Given the description of an element on the screen output the (x, y) to click on. 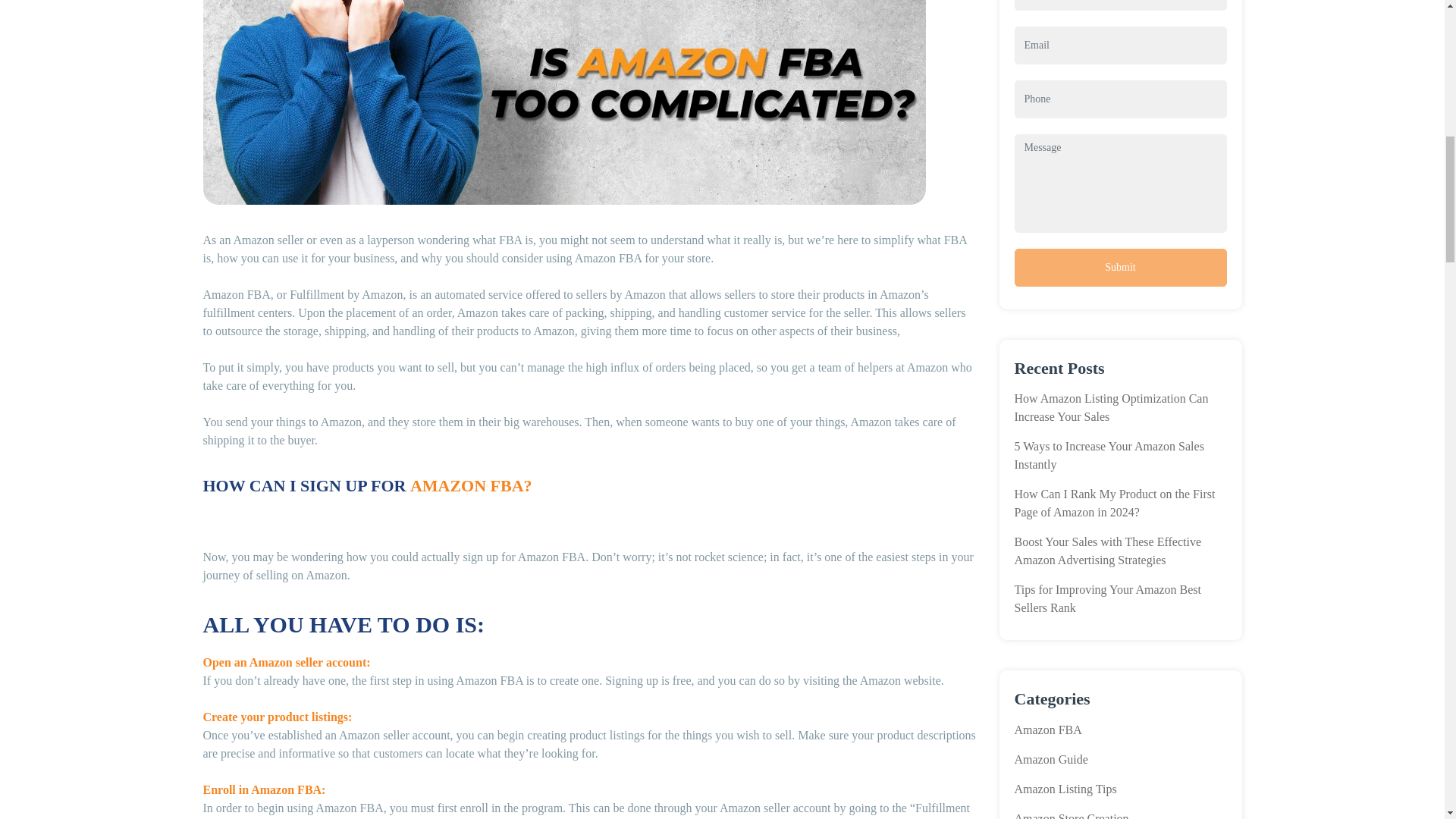
Amazon Store Creation (1071, 815)
5 Ways to Increase Your Amazon Sales Instantly (1109, 454)
Submit (1120, 267)
Amazon Listing Tips (1065, 788)
How Amazon Listing Optimization Can Increase Your Sales (1111, 407)
Submit (1120, 267)
Amazon Guide (1050, 758)
Amazon FBA (1047, 729)
Tips for Improving Your Amazon Best Sellers Rank (1108, 598)
